Given the description of an element on the screen output the (x, y) to click on. 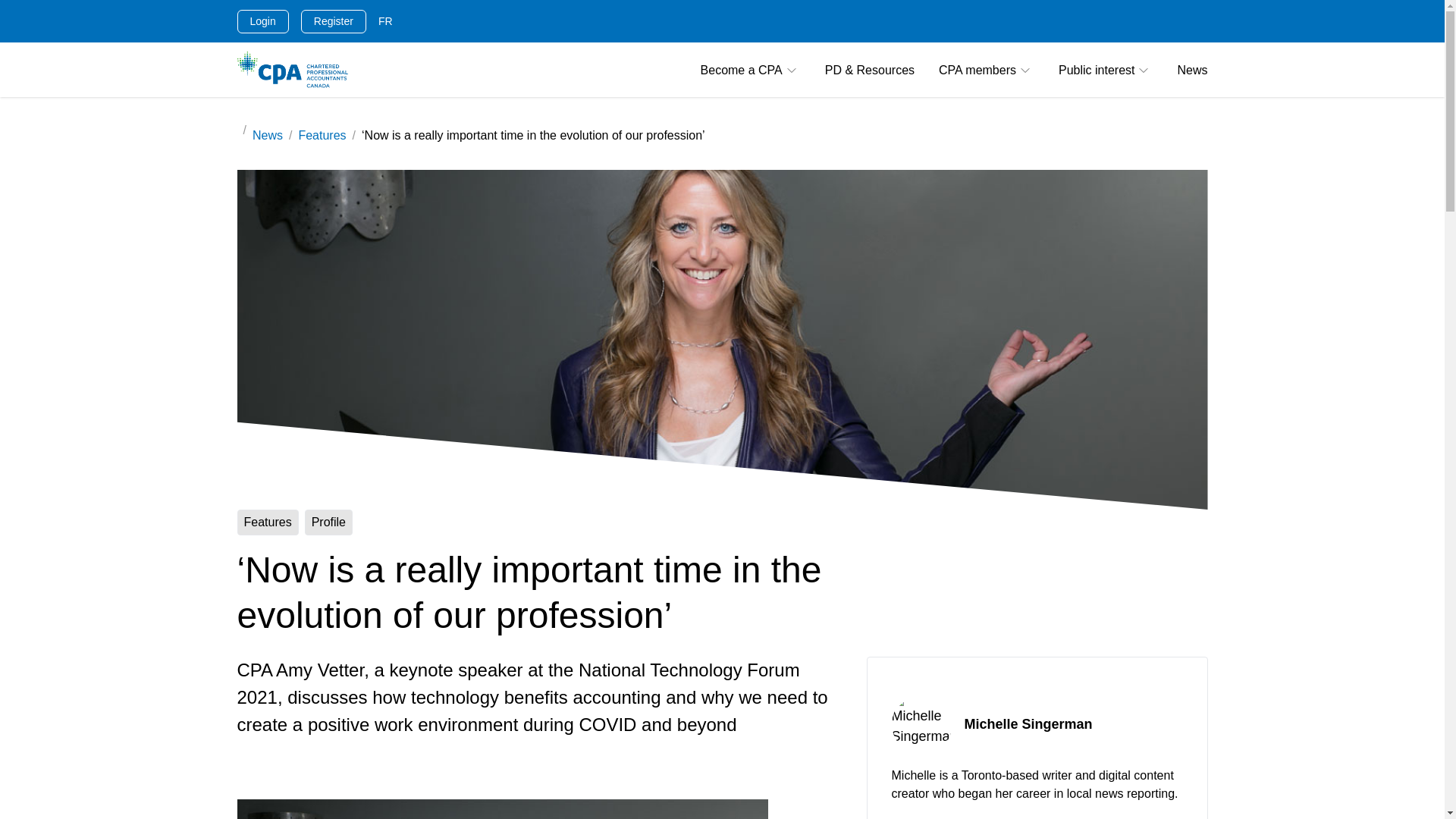
Public interest (1105, 69)
News (1191, 69)
FR (385, 21)
News (1191, 69)
Features (322, 134)
CPA members (986, 69)
CPA (291, 69)
Login (261, 20)
Become a CPA (750, 69)
News (266, 134)
Register (333, 20)
